Given the description of an element on the screen output the (x, y) to click on. 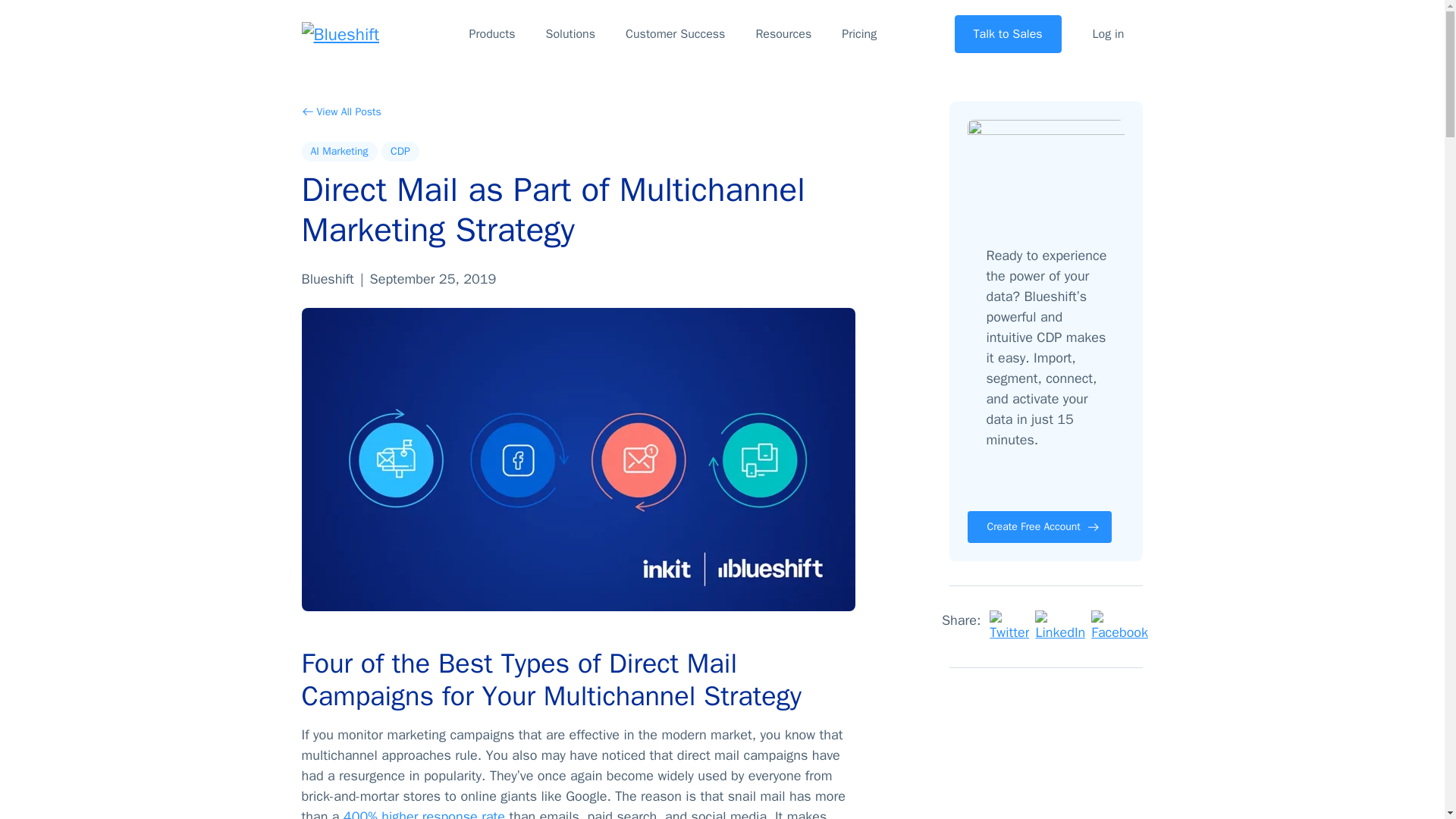
Solutions (570, 34)
Products (492, 34)
